Given the description of an element on the screen output the (x, y) to click on. 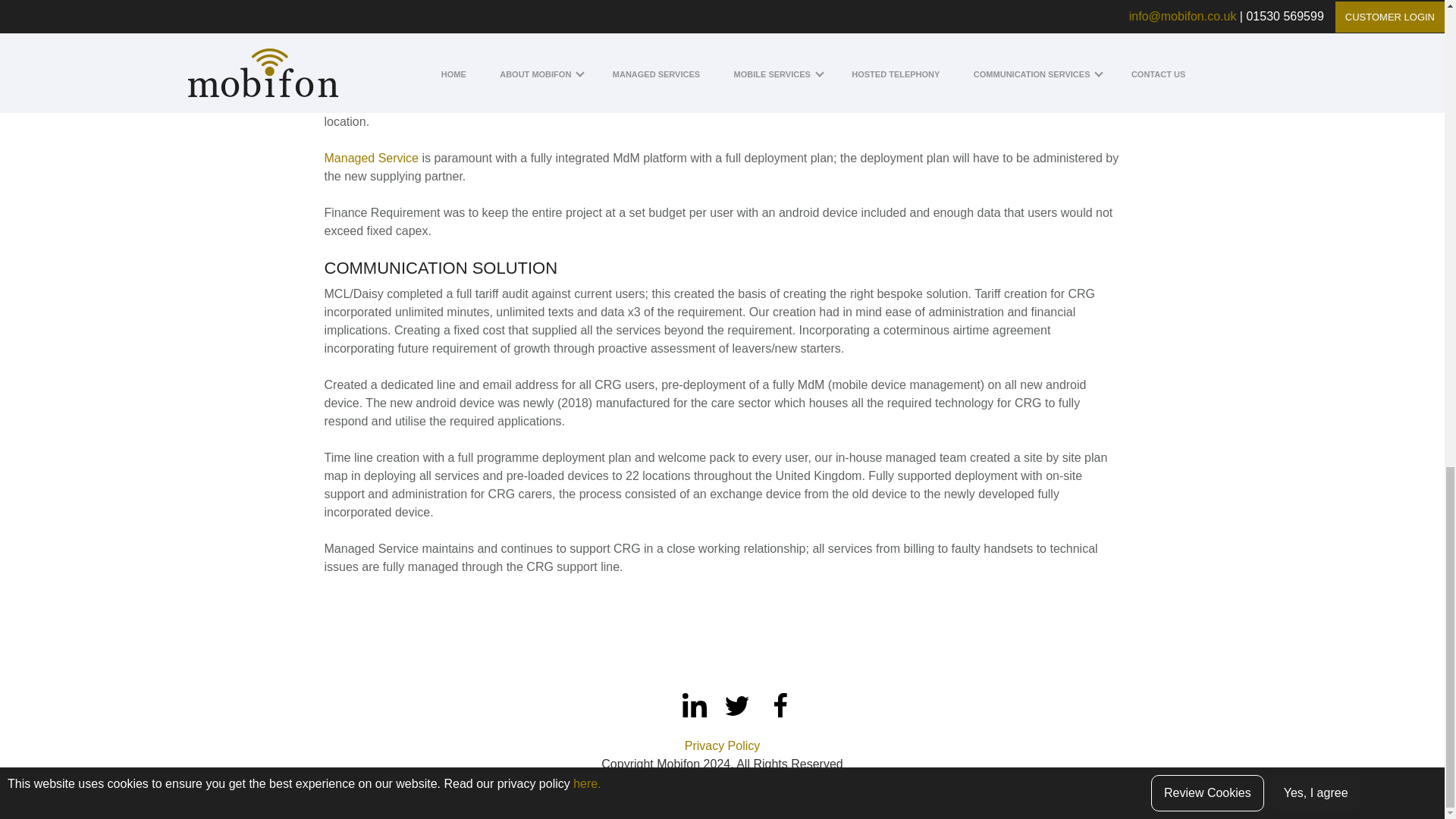
Privacy Policy (722, 745)
Managed Service (371, 157)
